Given the description of an element on the screen output the (x, y) to click on. 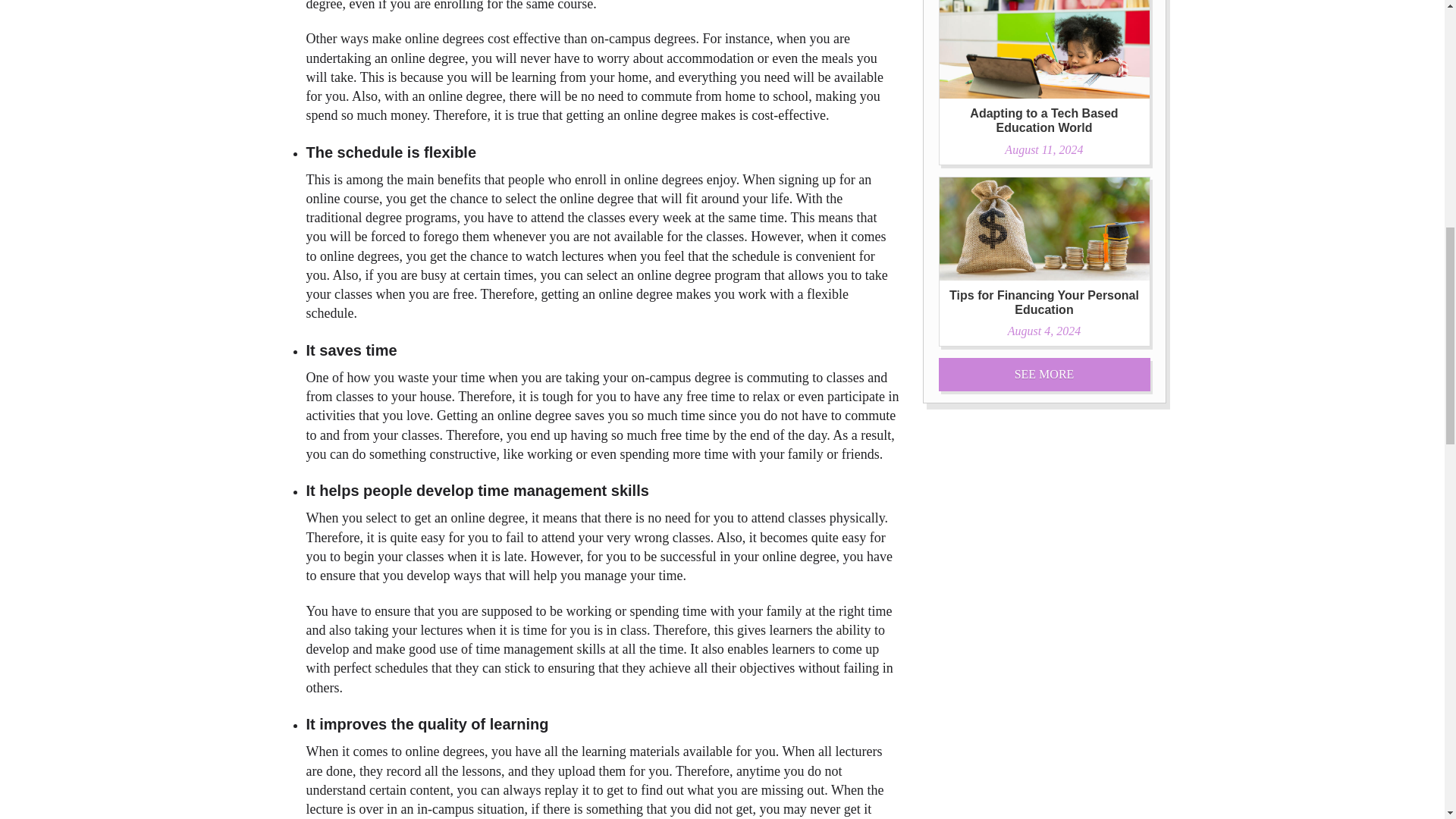
SEE MORE (1044, 261)
